Given the description of an element on the screen output the (x, y) to click on. 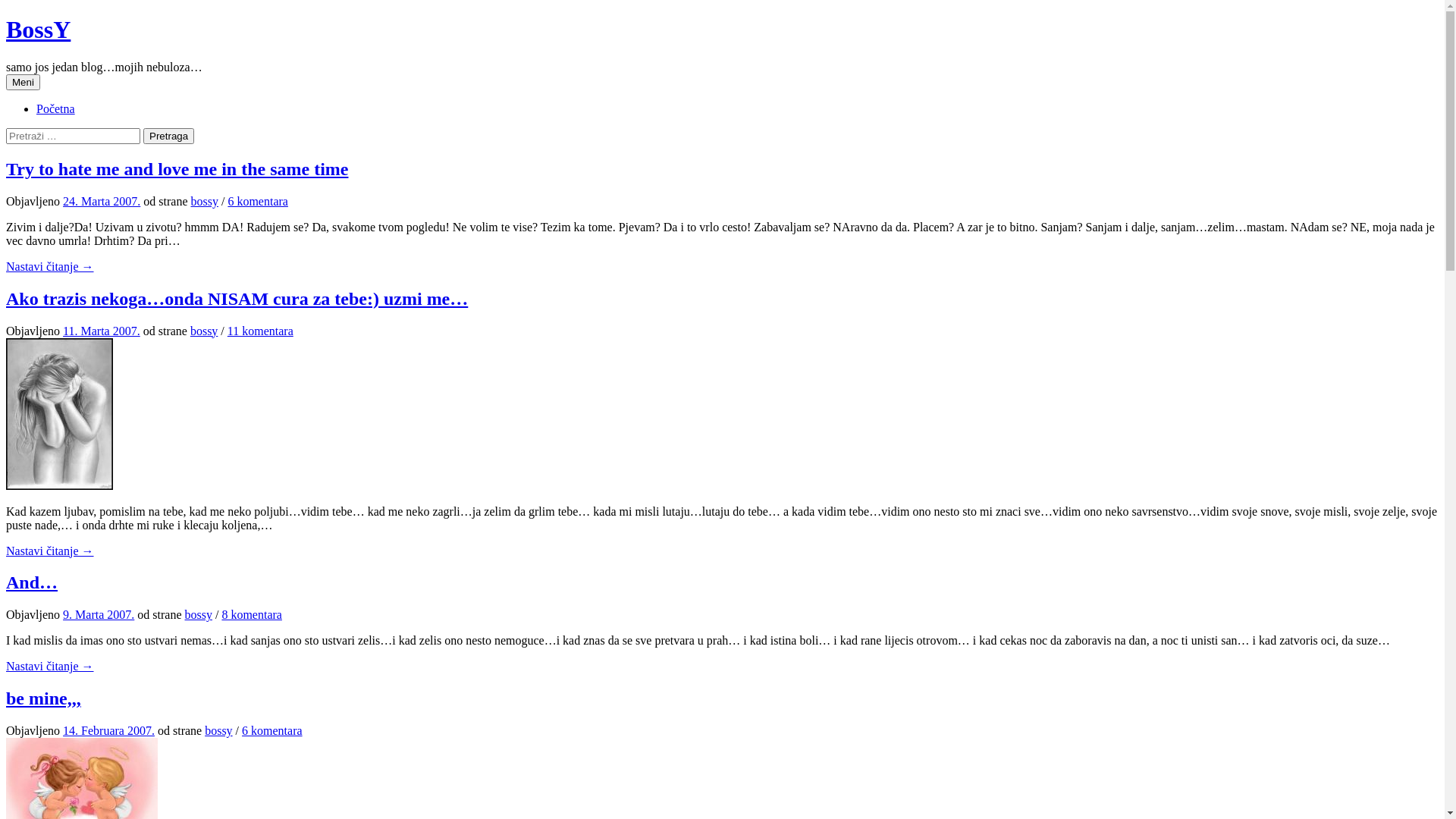
24. Marta 2007. Element type: text (101, 200)
bossy Element type: text (198, 614)
be mine,,, Element type: text (43, 698)
6 komentara
za Try to hate me and love me in the same time Element type: text (257, 200)
14. Februara 2007. Element type: text (108, 730)
9. Marta 2007. Element type: text (98, 614)
bossy Element type: text (204, 200)
bossy Element type: text (218, 730)
Pretraga Element type: text (168, 136)
bossy Element type: text (203, 330)
Try to hate me and love me in the same time Element type: text (177, 168)
Meni Element type: text (23, 82)
11. Marta 2007. Element type: text (101, 330)
BossY Element type: text (38, 29)
6 komentara
za be mine,,, Element type: text (271, 730)
